Given the description of an element on the screen output the (x, y) to click on. 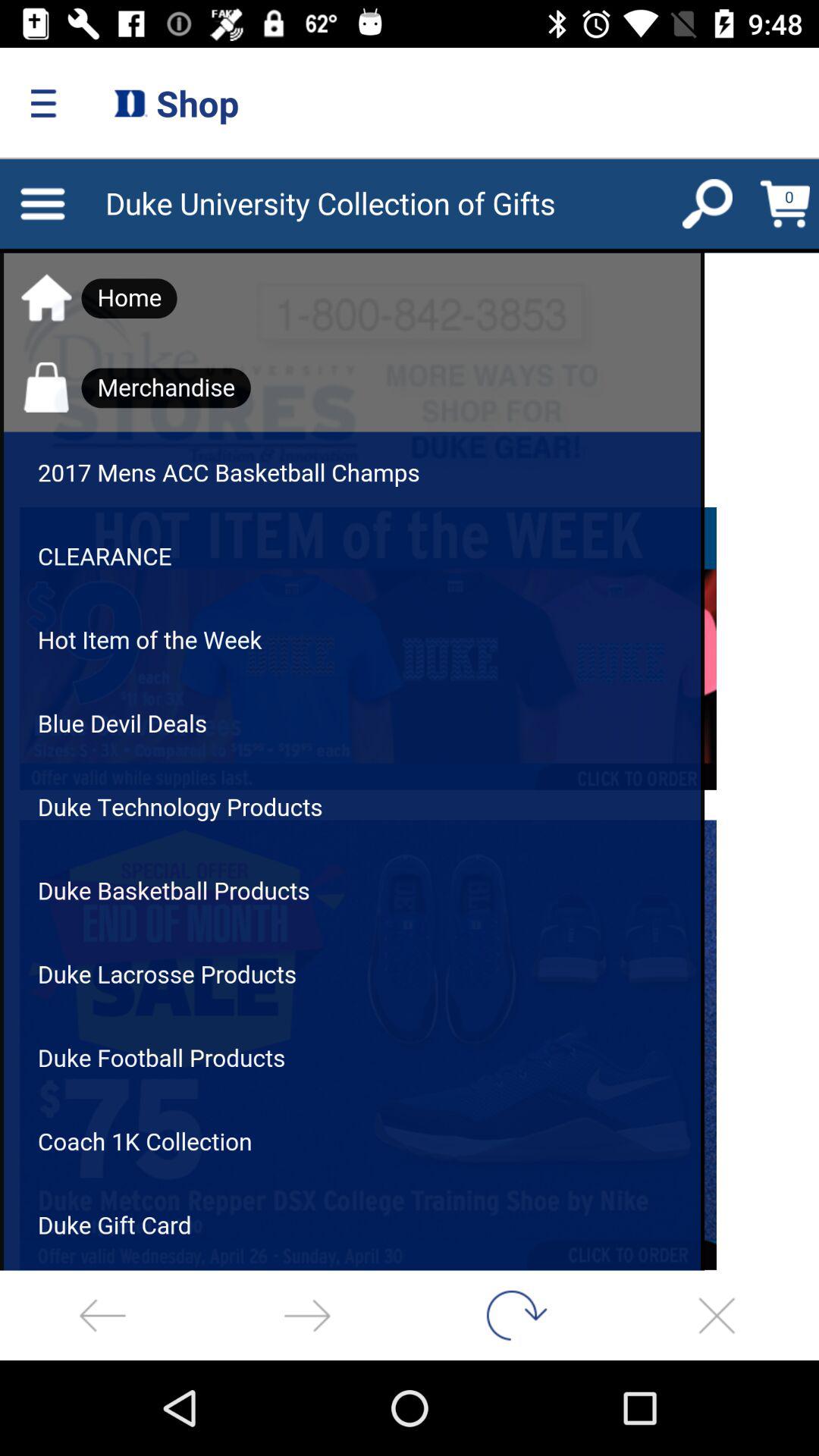
next button (306, 1315)
